Given the description of an element on the screen output the (x, y) to click on. 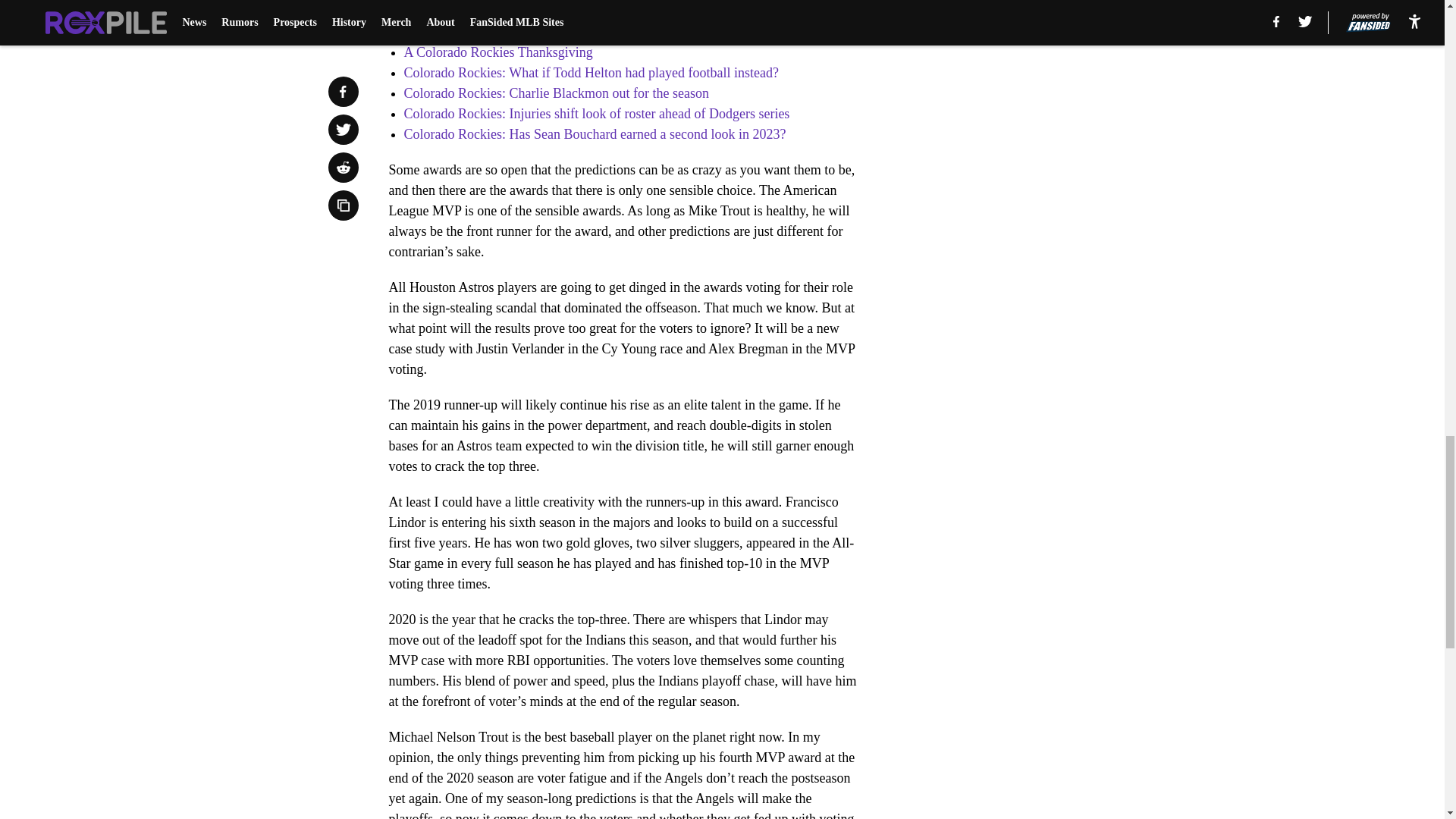
Colorado Rockies: Charlie Blackmon out for the season (555, 92)
A Colorado Rockies Thanksgiving (497, 52)
